Given the description of an element on the screen output the (x, y) to click on. 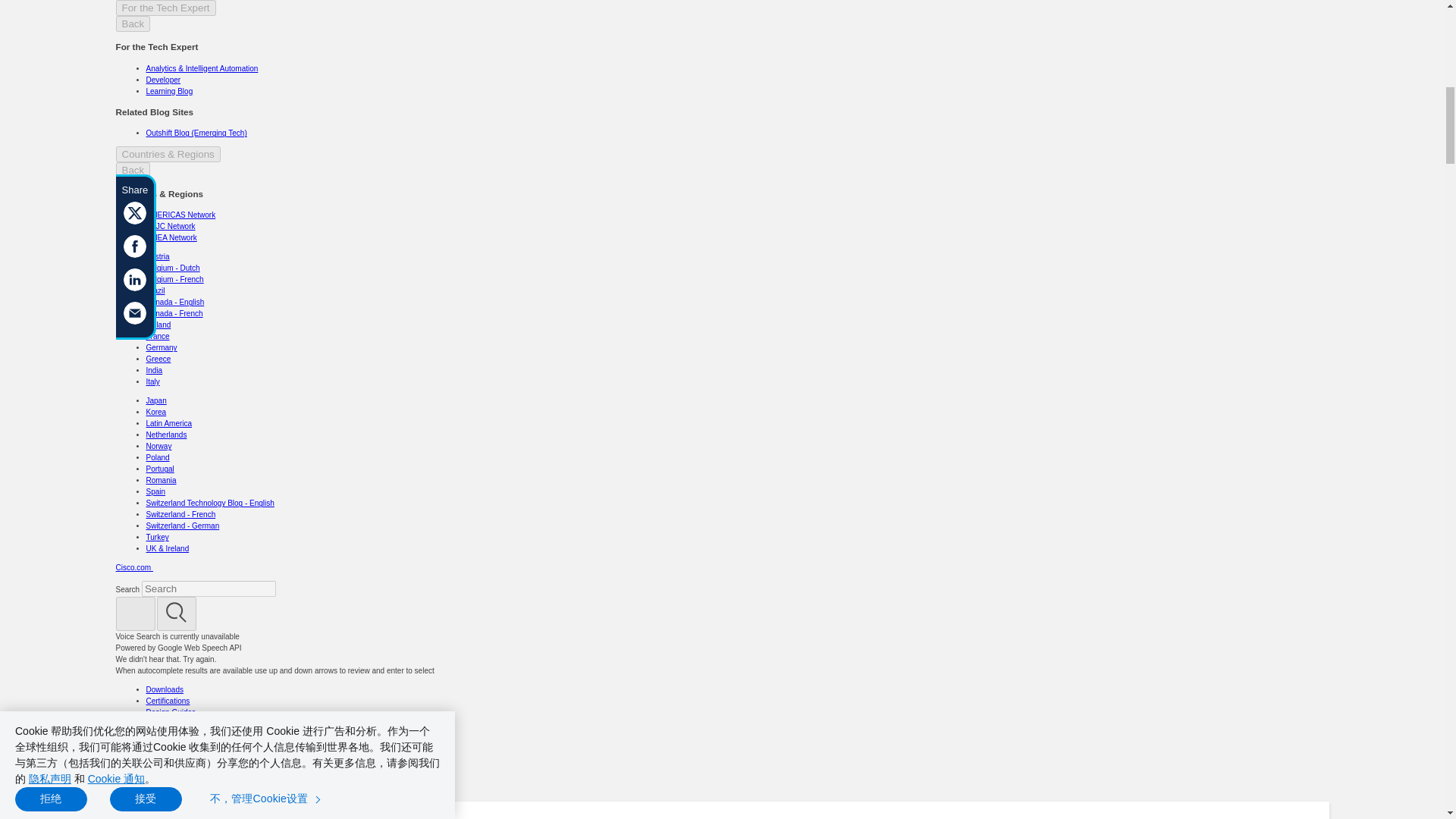
Cisco Blogs (249, 818)
Developer (310, 818)
